Given the description of an element on the screen output the (x, y) to click on. 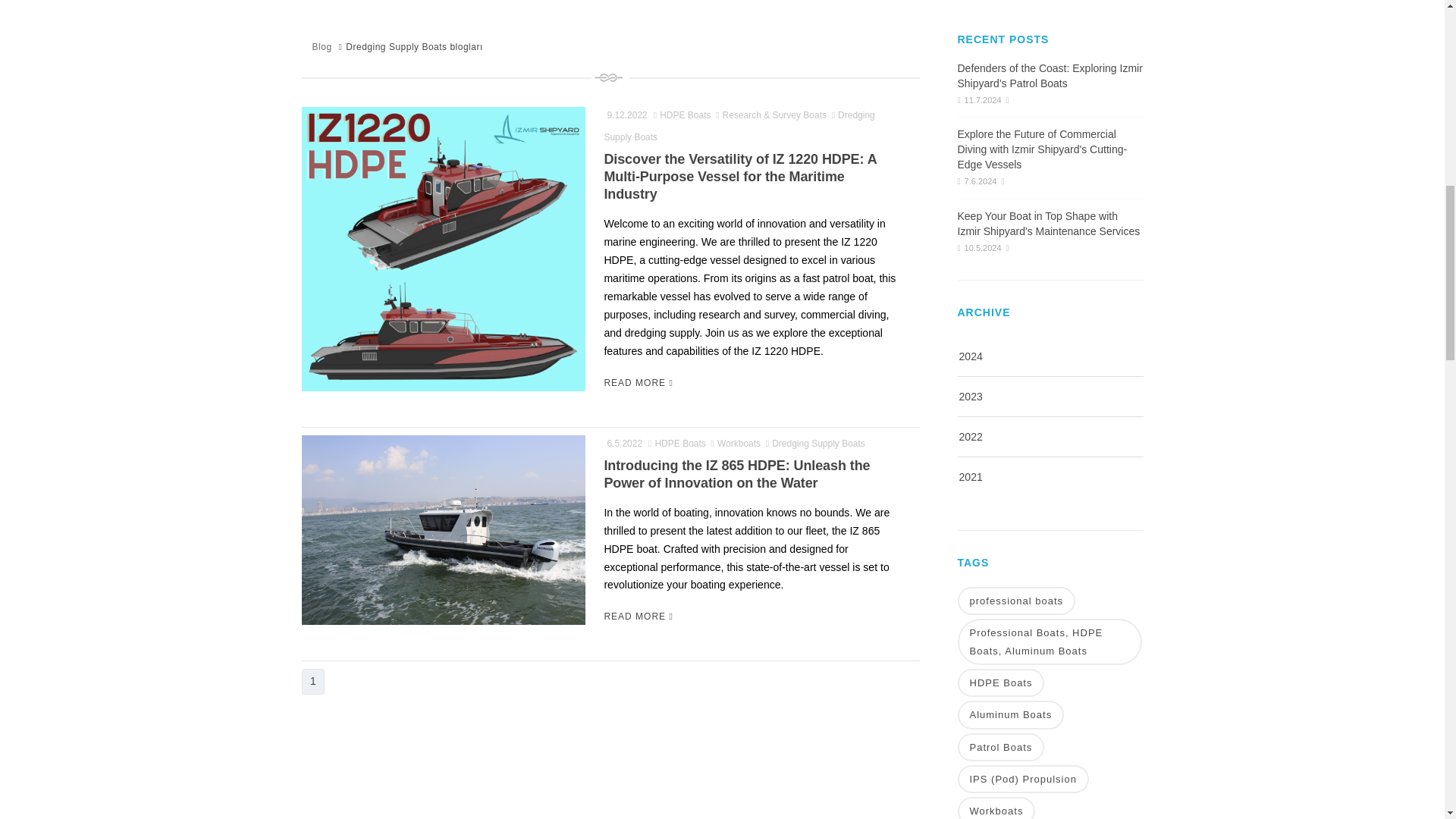
2024 (969, 356)
Aluminum Boats (1010, 714)
HDPE Boats (999, 682)
Blog (322, 46)
professional boats (1015, 601)
2023 (969, 396)
2021 (969, 476)
Workboats (995, 807)
READ MORE (638, 615)
1 (312, 681)
Professional Boats, HDPE Boats, Aluminum Boats (1048, 642)
